Given the description of an element on the screen output the (x, y) to click on. 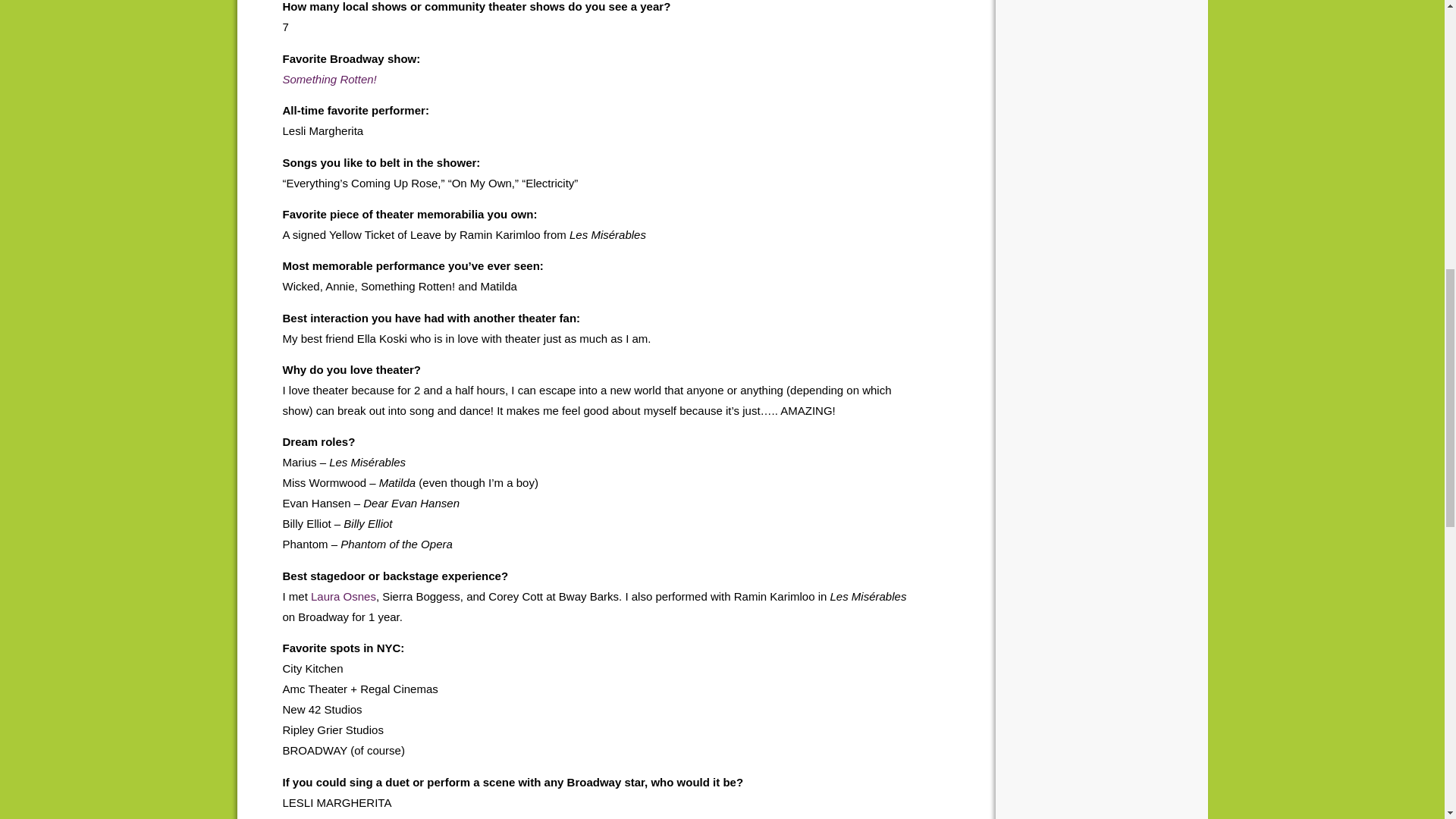
Laura Osnes (343, 595)
Something Rotten! (328, 78)
